Given the description of an element on the screen output the (x, y) to click on. 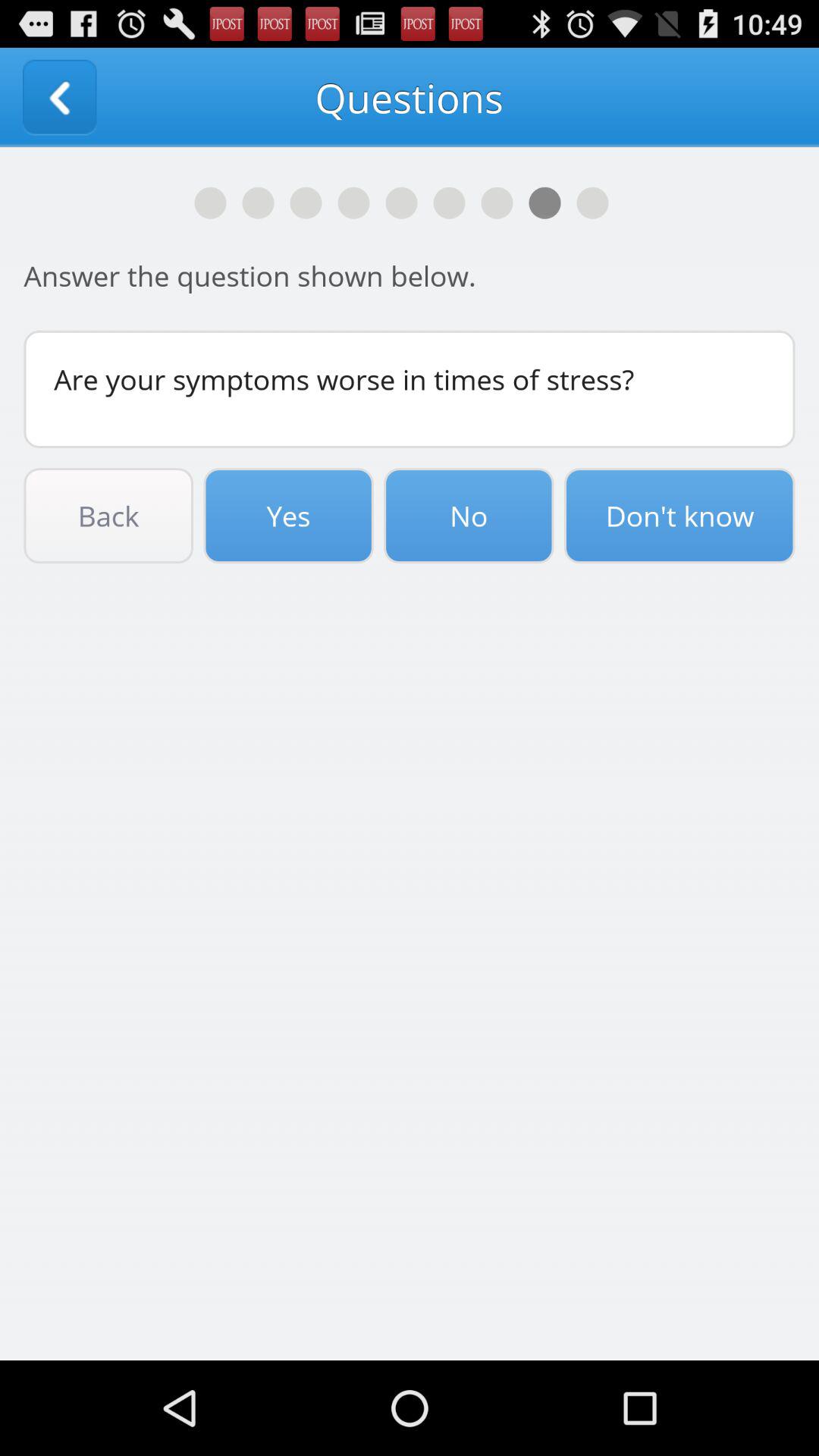
go back (59, 97)
